Given the description of an element on the screen output the (x, y) to click on. 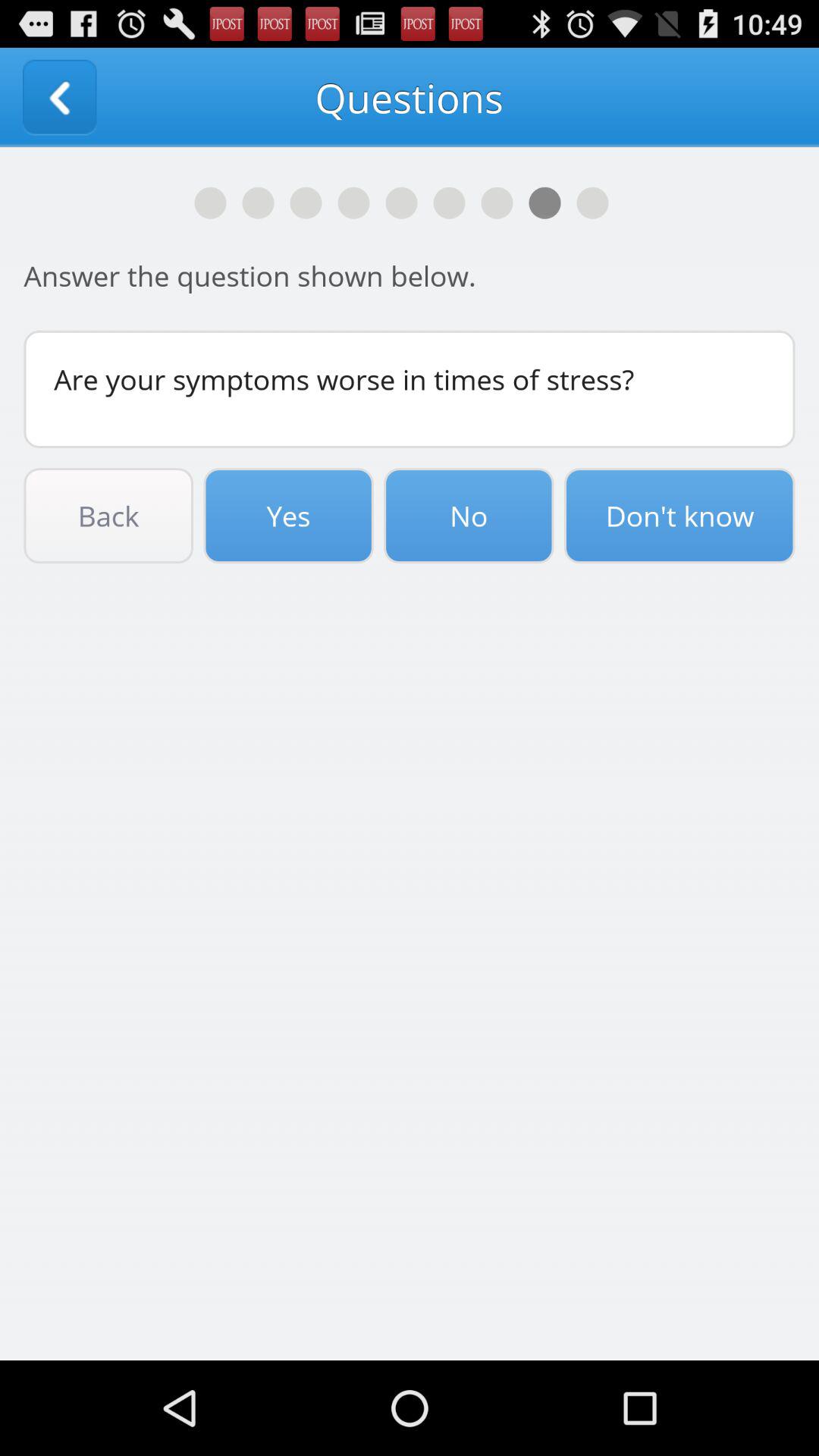
go back (59, 97)
